Given the description of an element on the screen output the (x, y) to click on. 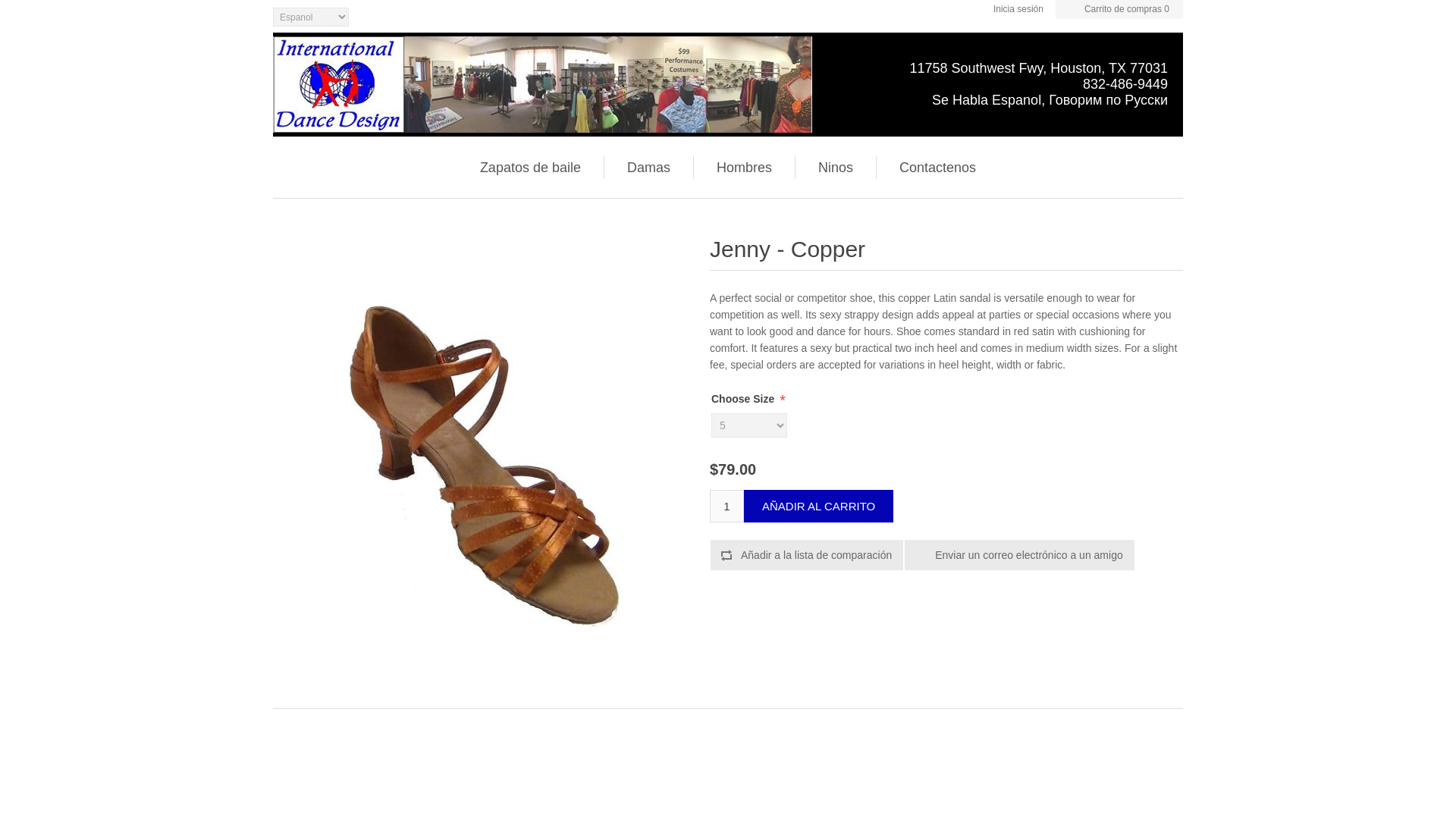
Zapatos de baile (529, 167)
1 (727, 505)
Ninos (835, 167)
Damas (649, 167)
Hombres (743, 167)
Carrito de compras 0 (1118, 9)
